Given the description of an element on the screen output the (x, y) to click on. 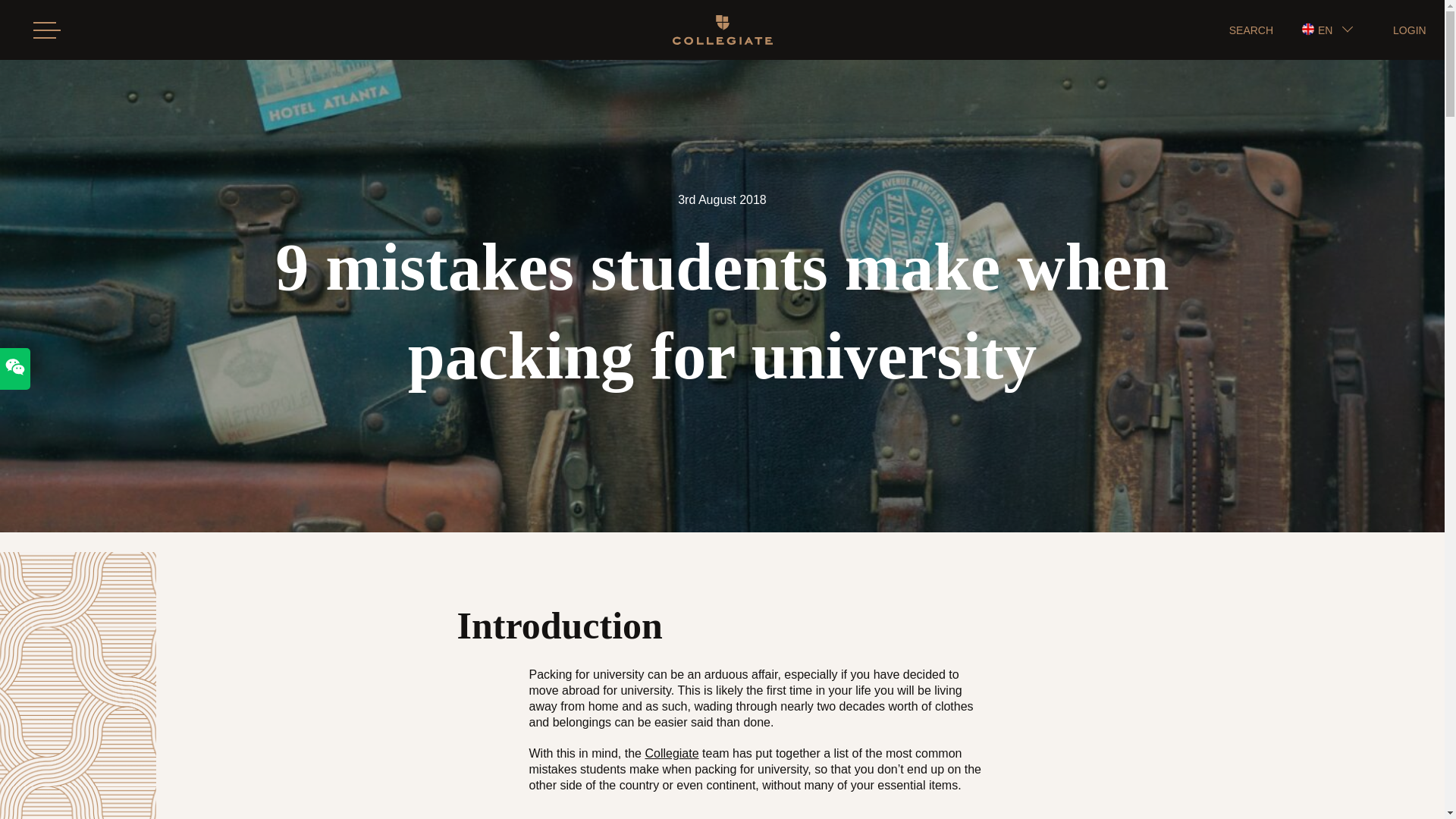
LOGIN (1409, 29)
Search (305, 89)
Homepage (721, 30)
SEARCH (1250, 29)
